Given the description of an element on the screen output the (x, y) to click on. 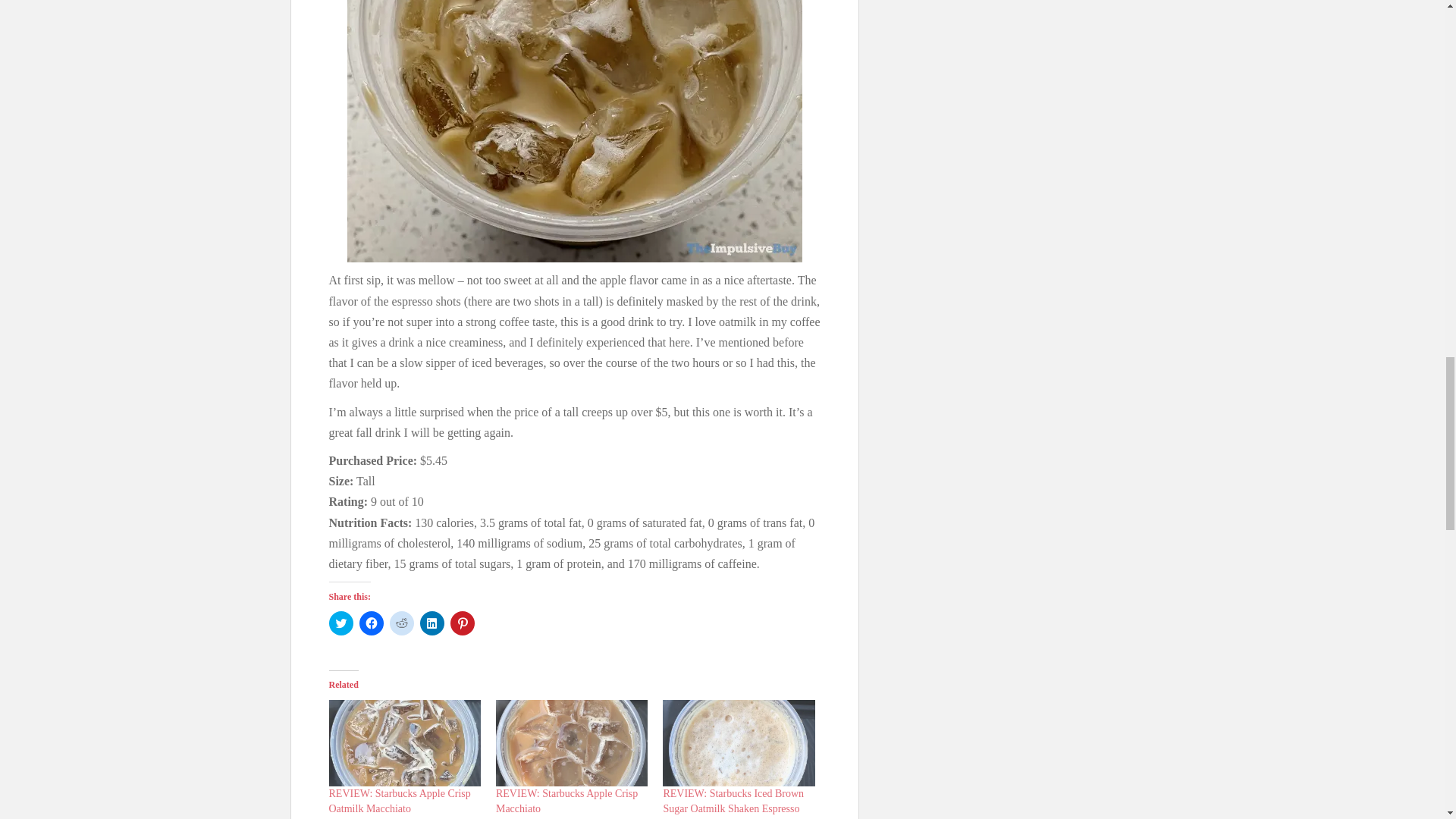
Click to share on Reddit (401, 622)
REVIEW: Starbucks Apple Crisp Macchiato (571, 743)
REVIEW: Starbucks Iced Brown Sugar Oatmilk Shaken Espresso (737, 743)
REVIEW: Starbucks Apple Crisp Macchiato (566, 800)
REVIEW: Starbucks Apple Crisp Oatmilk Macchiato (399, 800)
REVIEW: Starbucks Apple Crisp Oatmilk Macchiato (404, 743)
REVIEW: Starbucks Apple Crisp Macchiato (566, 800)
Click to share on Facebook (371, 622)
REVIEW: Starbucks Apple Crisp Oatmilk Macchiato (399, 800)
Click to share on Pinterest (461, 622)
REVIEW: Starbucks Iced Brown Sugar Oatmilk Shaken Espresso (732, 800)
Click to share on Twitter (341, 622)
REVIEW: Starbucks Iced Brown Sugar Oatmilk Shaken Espresso (732, 800)
Click to share on LinkedIn (432, 622)
